Given the description of an element on the screen output the (x, y) to click on. 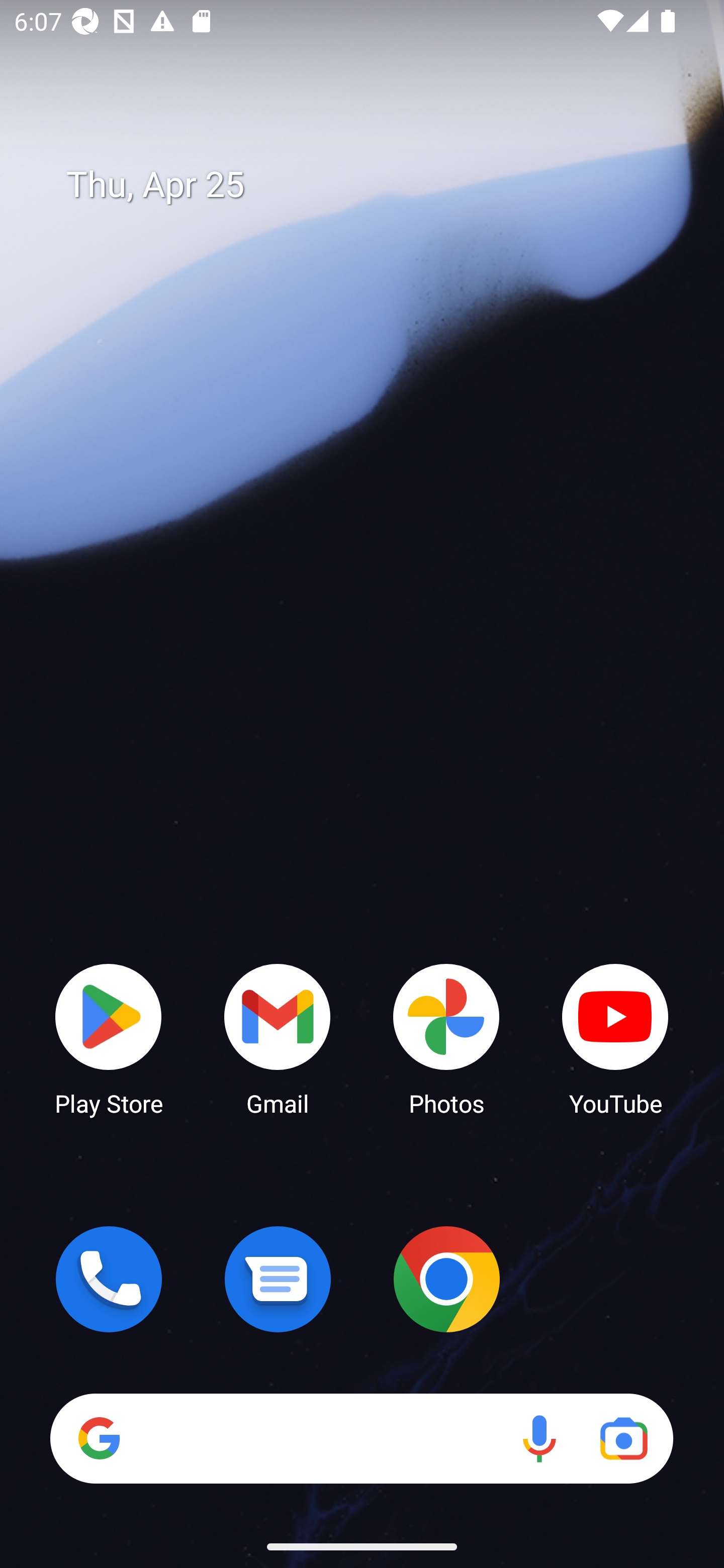
Thu, Apr 25 (375, 184)
Play Store (108, 1038)
Gmail (277, 1038)
Photos (445, 1038)
YouTube (615, 1038)
Phone (108, 1279)
Messages (277, 1279)
Chrome (446, 1279)
Search Voice search Google Lens (361, 1438)
Voice search (539, 1438)
Google Lens (623, 1438)
